Given the description of an element on the screen output the (x, y) to click on. 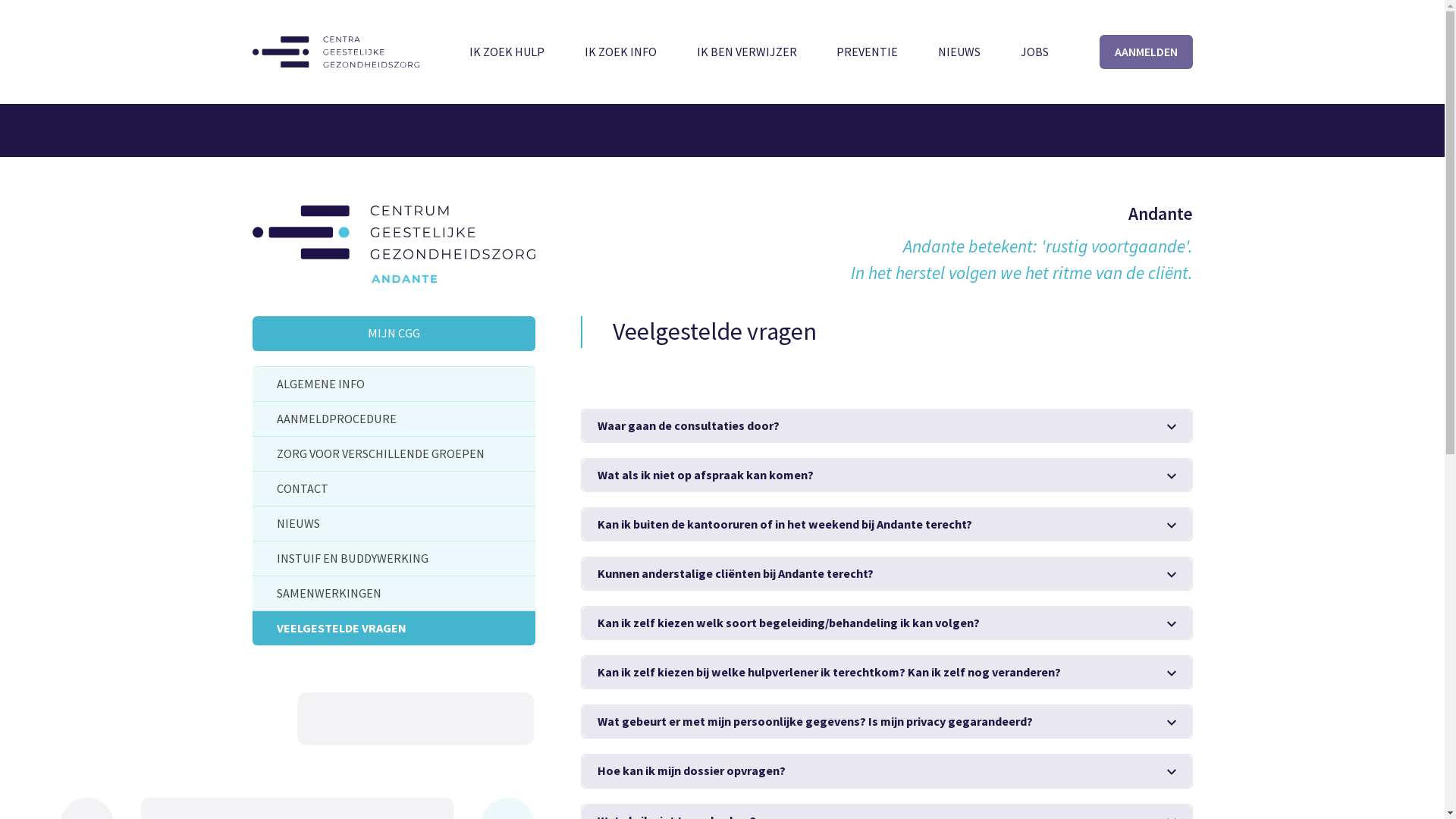
t--Home Element type: hover (334, 51)
IK ZOEK INFO Element type: text (620, 51)
JOBS Element type: text (1034, 51)
INSTUIF EN BUDDYWERKING Element type: text (392, 558)
CONTACT Element type: text (392, 488)
SAMENWERKINGEN Element type: text (392, 593)
VEELGESTELDE VRAGEN Element type: text (392, 628)
IK BEN VERWIJZER Element type: text (746, 51)
PREVENTIE Element type: text (866, 51)
MIJN CGG Element type: text (392, 333)
ALGEMENE INFO Element type: text (392, 384)
IK ZOEK HULP Element type: text (506, 51)
NIEUWS Element type: text (392, 523)
NIEUWS Element type: text (958, 51)
ZORG VOOR VERSCHILLENDE GROEPEN Element type: text (392, 453)
Overslaan en naar de inhoud gaan Element type: text (0, 0)
AANMELDPROCEDURE Element type: text (392, 418)
